Given the description of an element on the screen output the (x, y) to click on. 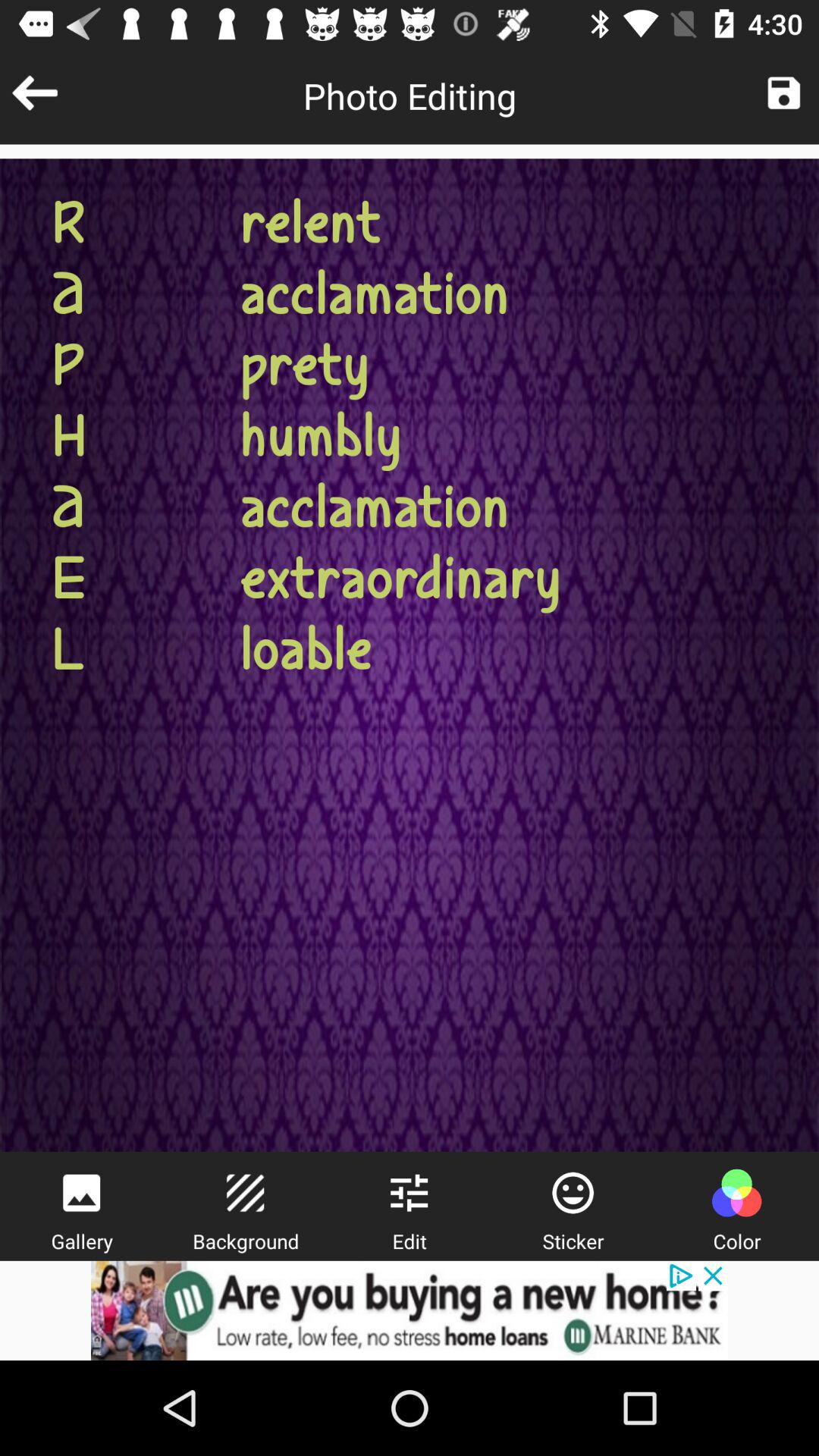
open gallery (81, 1192)
